Given the description of an element on the screen output the (x, y) to click on. 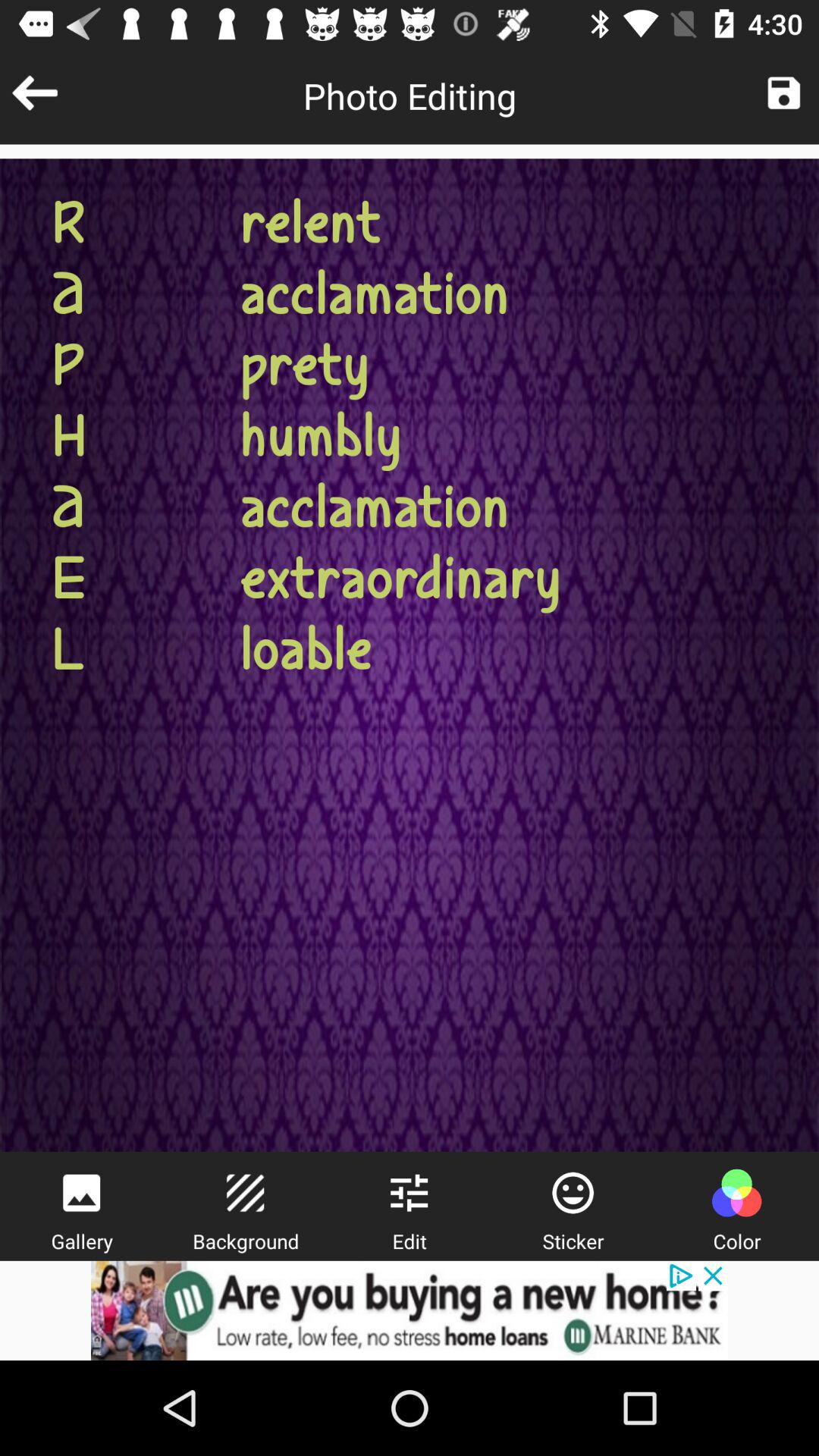
open gallery (81, 1192)
